Given the description of an element on the screen output the (x, y) to click on. 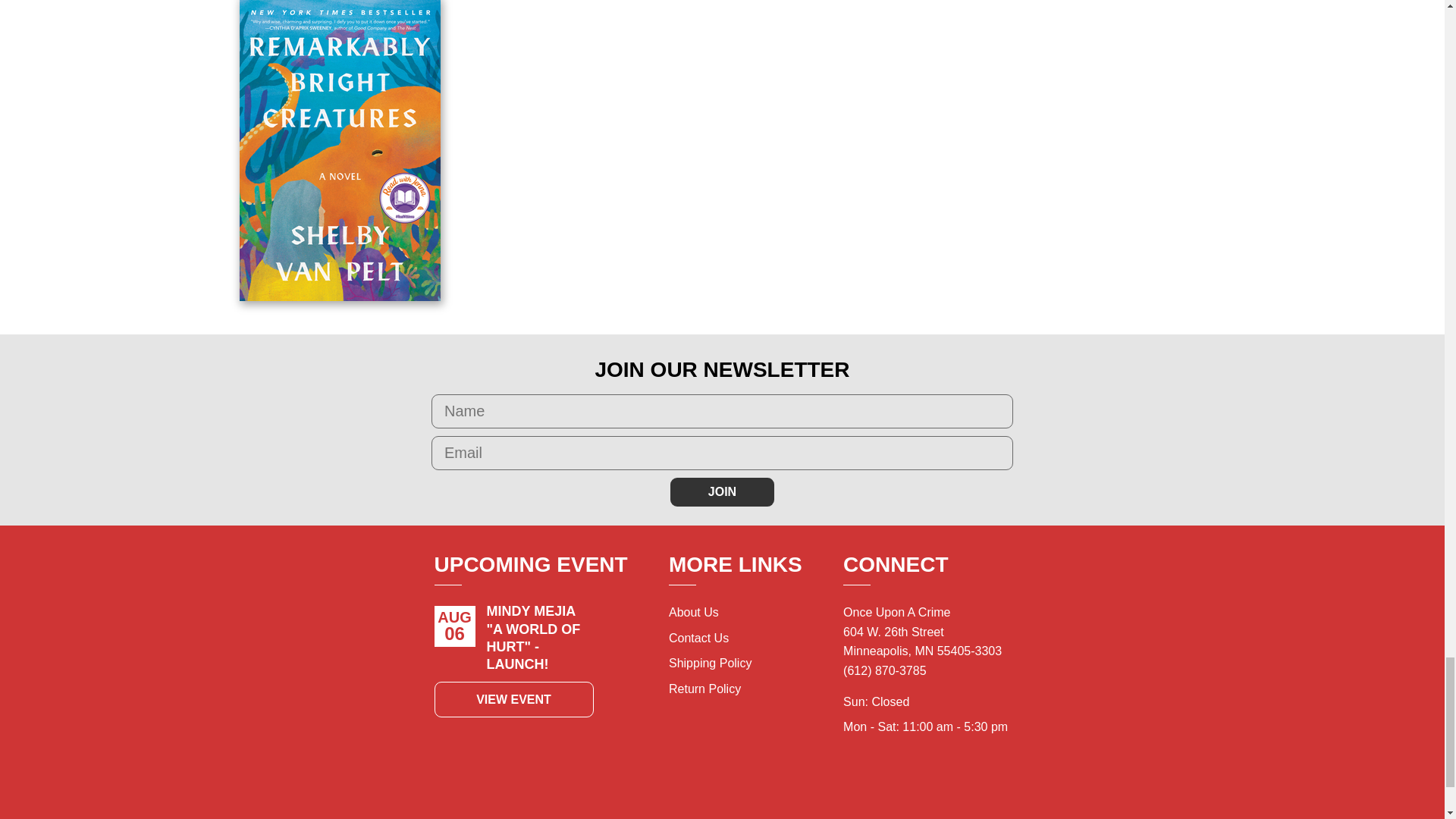
Join (721, 491)
Connect with Facebook (909, 790)
Connect with Instagram (943, 790)
Join (721, 491)
